Given the description of an element on the screen output the (x, y) to click on. 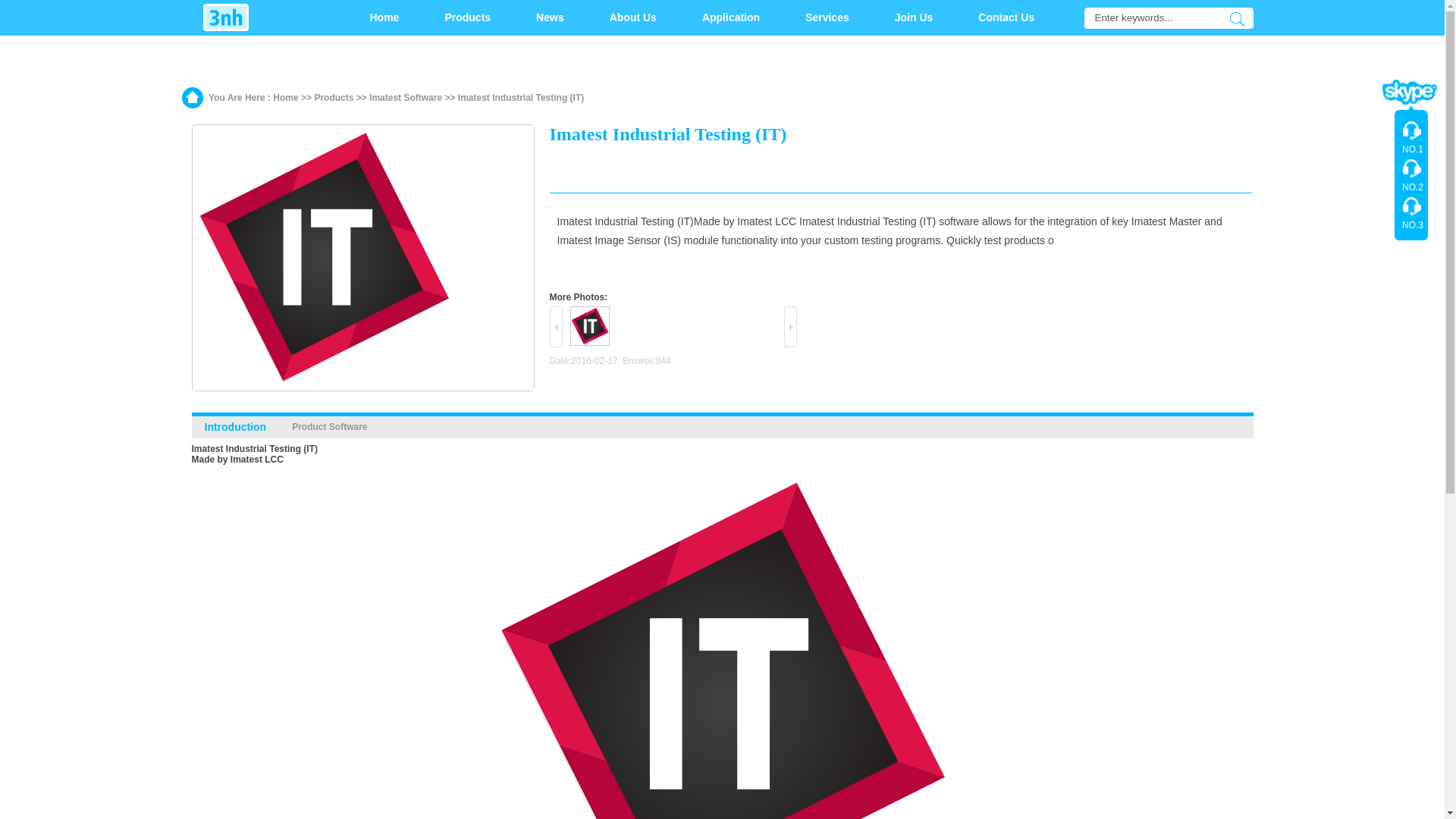
Products Element type: text (333, 97)
Home Element type: text (285, 97)
Contact Us Element type: text (1006, 17)
Application Element type: text (730, 17)
Product Software Element type: text (328, 427)
About Us Element type: text (632, 17)
News Element type: text (550, 17)
Services Element type: text (827, 17)
Home Element type: text (384, 17)
Imatest Software Element type: text (405, 97)
Introduction Element type: text (234, 427)
Join Us Element type: text (913, 17)
Products Element type: text (467, 17)
